Given the description of an element on the screen output the (x, y) to click on. 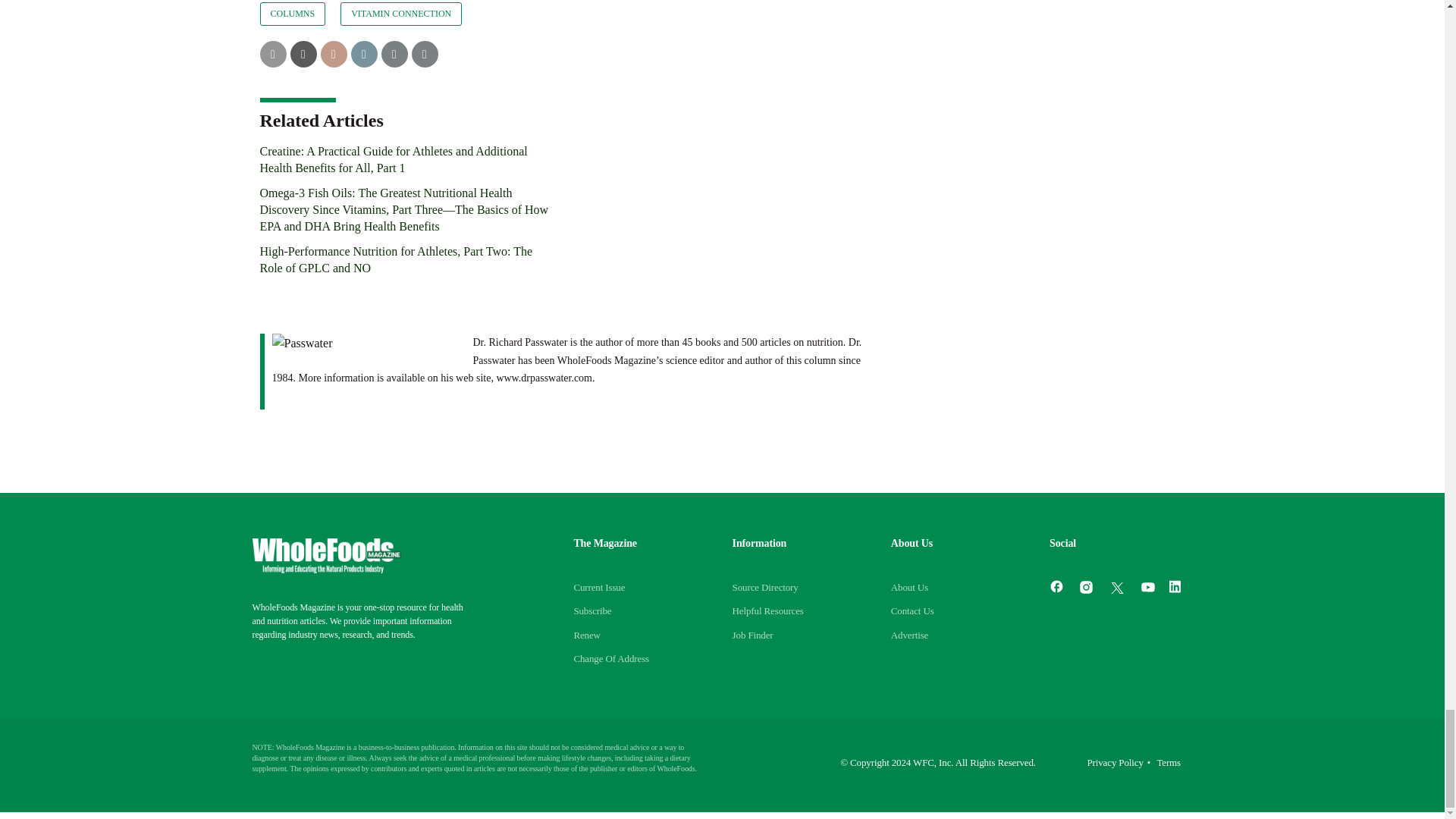
WholeFoods Magazine (325, 555)
